Given the description of an element on the screen output the (x, y) to click on. 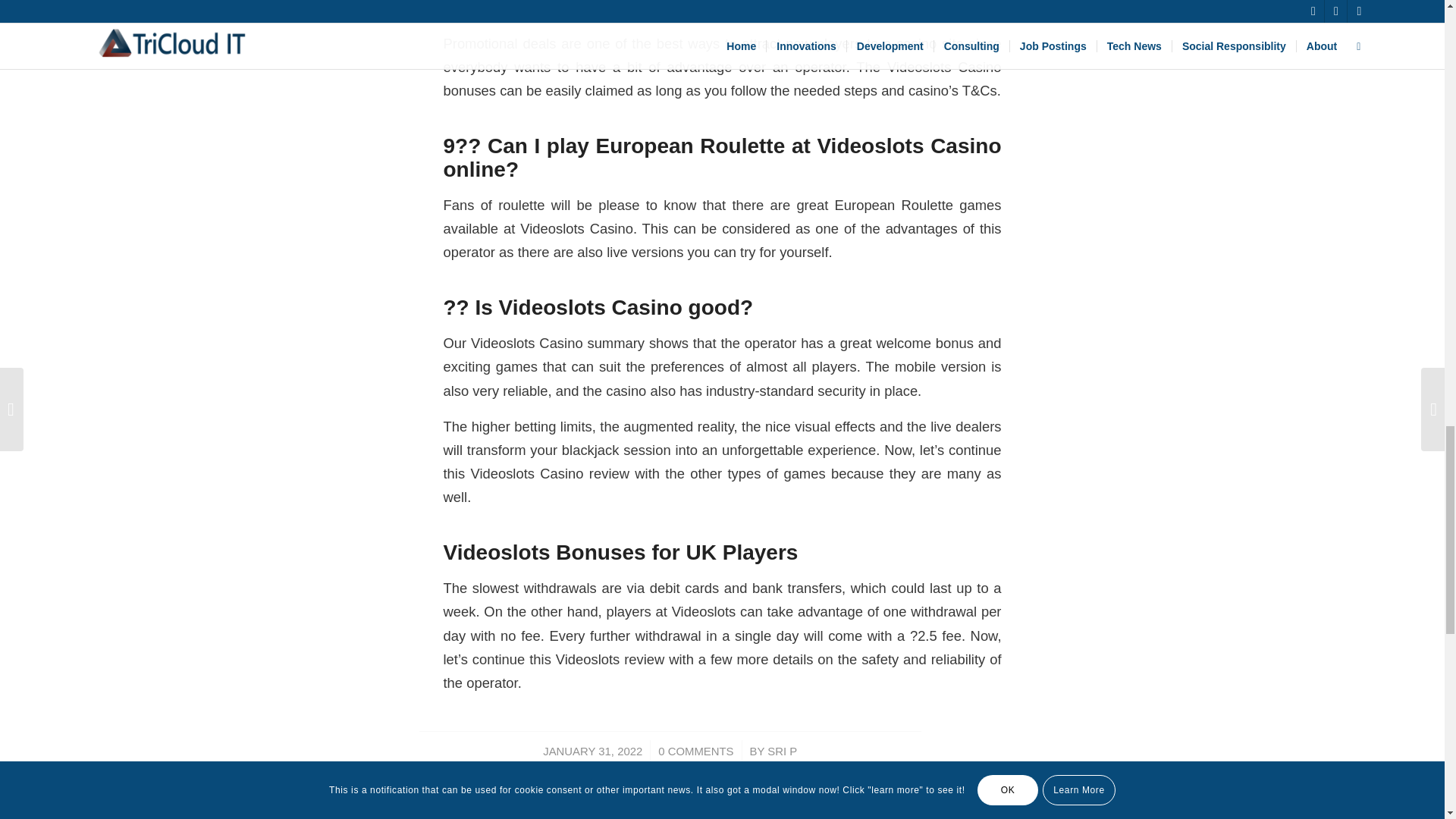
0 COMMENTS (695, 751)
SRI P (781, 751)
Posts by Sri P (781, 751)
